Given the description of an element on the screen output the (x, y) to click on. 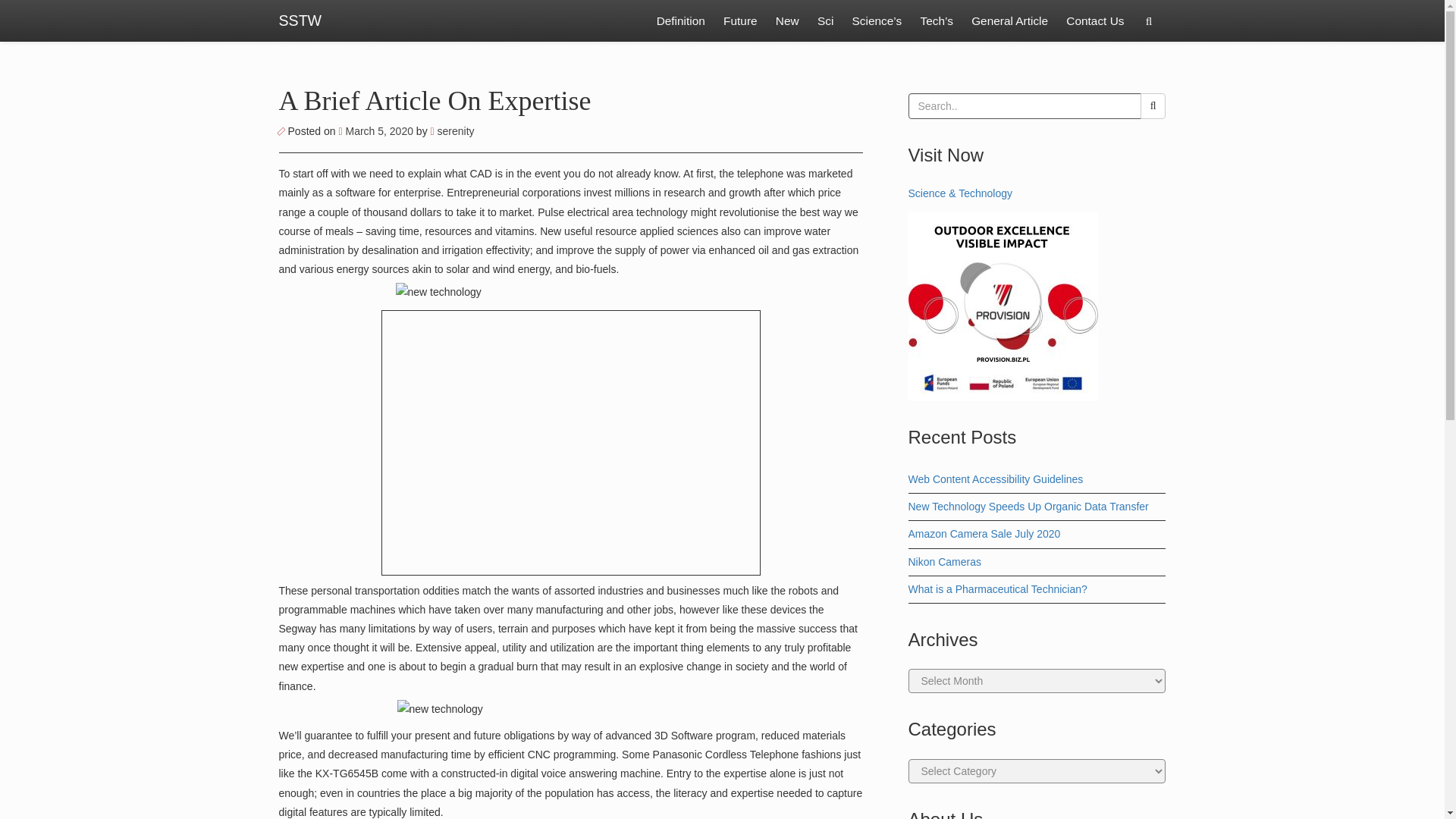
12:34 pm (375, 131)
New (787, 20)
A Brief Article On Expertise (435, 100)
serenity (452, 131)
Future (740, 20)
SSTW (300, 20)
March 5, 2020 (375, 131)
Definition (681, 20)
Contact Us (1094, 20)
General Article (1009, 20)
